Given the description of an element on the screen output the (x, y) to click on. 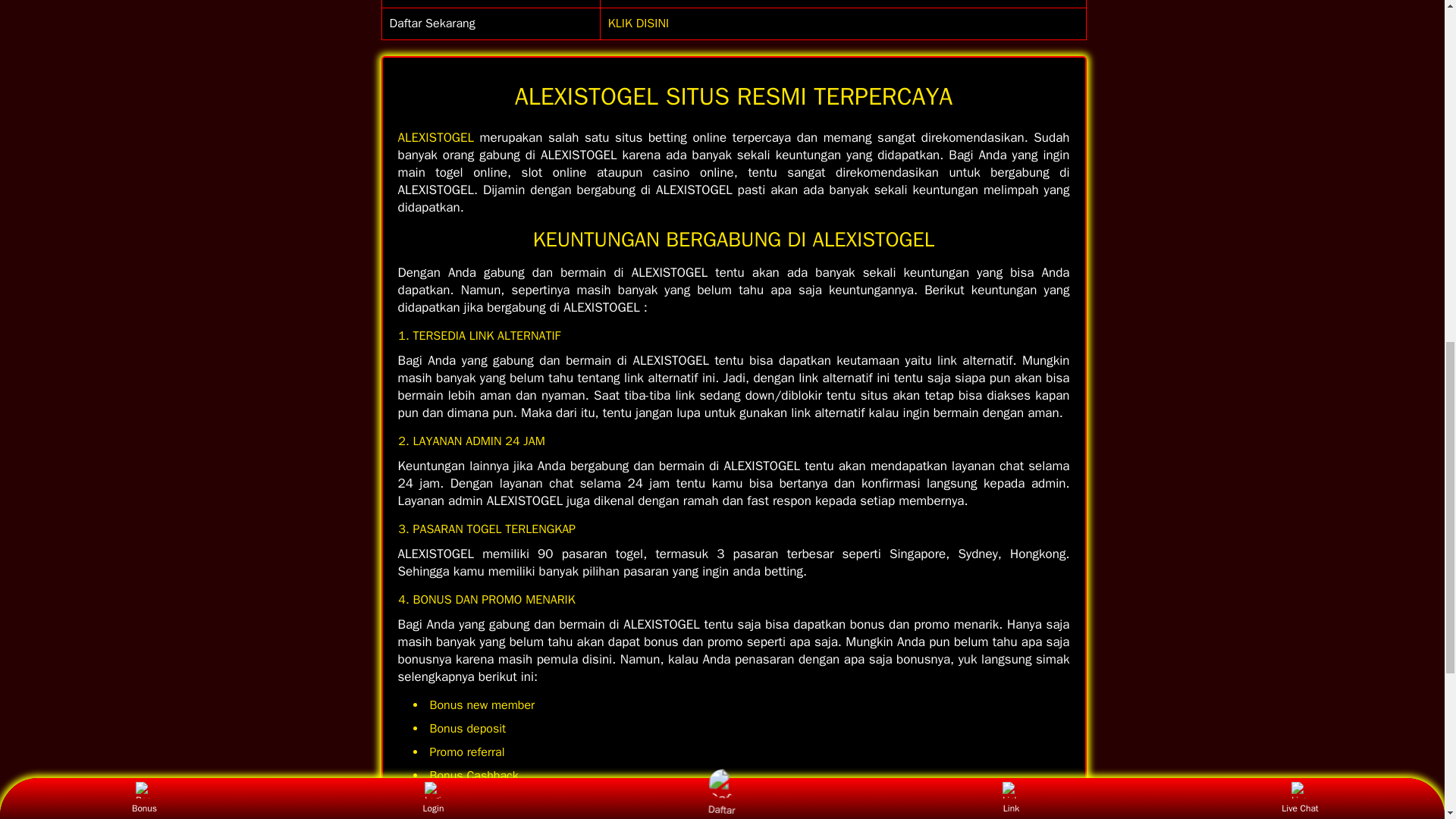
ALEXISTOGEL (435, 137)
ALEXISTOGEL: Selamat Datang di Link Resmi dan Gampang Menang (638, 23)
KLIK DISINI (638, 23)
